Given the description of an element on the screen output the (x, y) to click on. 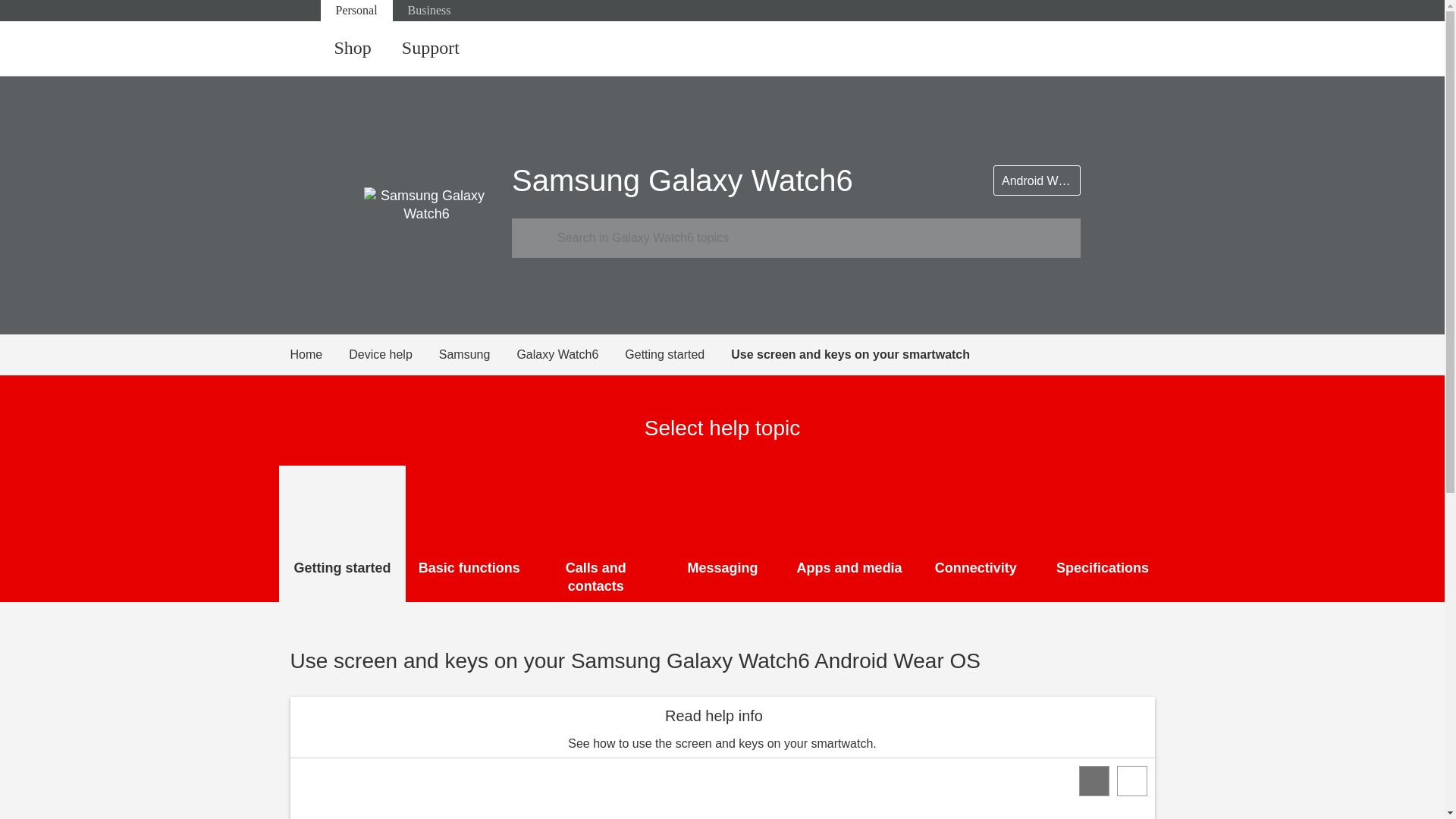
Samsung (477, 354)
Shop (351, 48)
Galaxy Watch6 (570, 354)
Menu (1139, 48)
My Vodafone (1079, 48)
Use screen and keys on your smartwatch (849, 354)
Support (430, 48)
Personal (355, 10)
Getting started (677, 354)
Home (319, 354)
Device help (394, 354)
Business (429, 10)
